Given the description of an element on the screen output the (x, y) to click on. 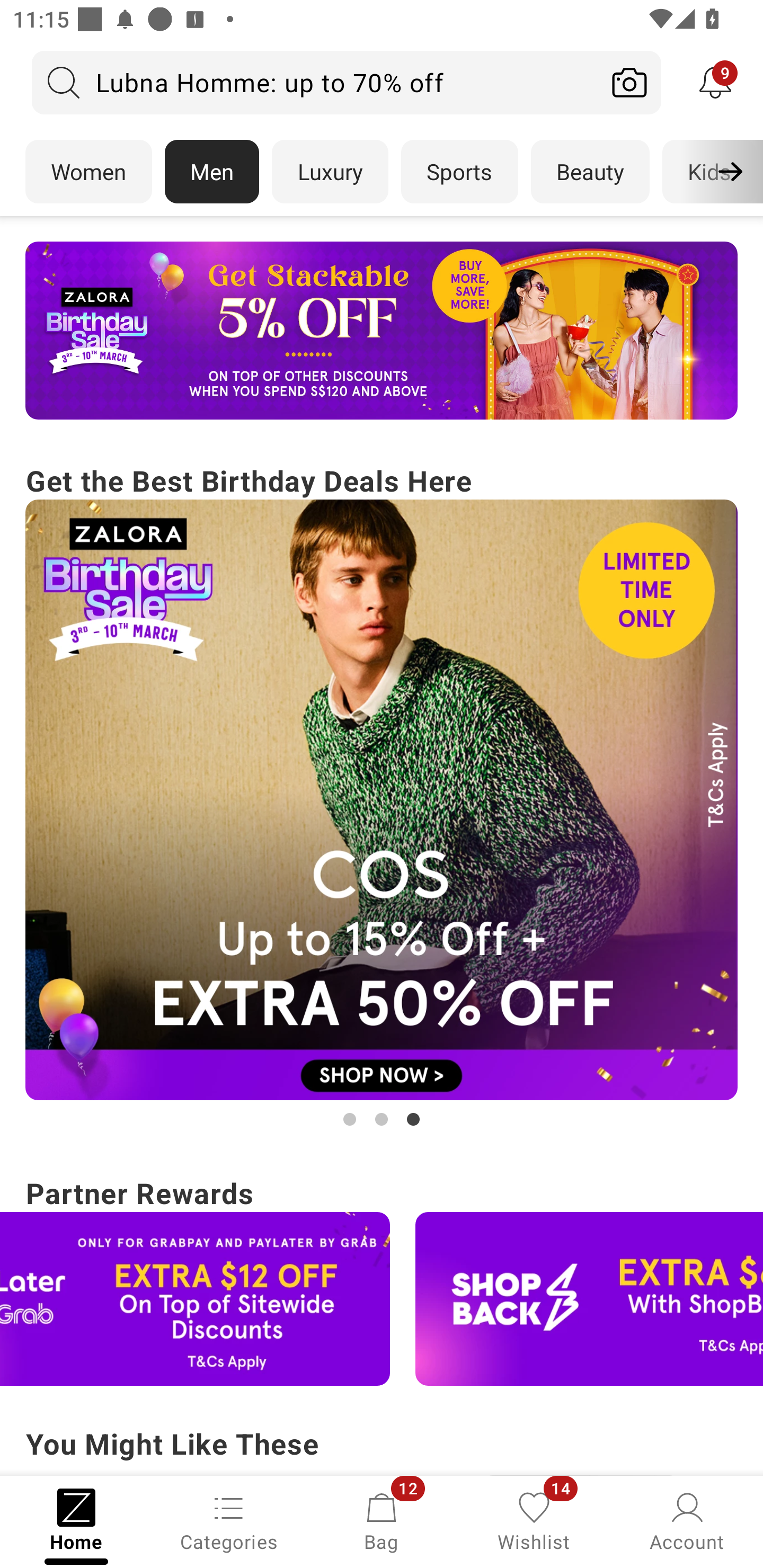
Lubna Homme: up to 70% off (314, 82)
Women (88, 171)
Men (211, 171)
Luxury (329, 171)
Sports (459, 171)
Beauty (590, 171)
Campaign banner (381, 330)
Get the Best Birthday Deals Here Campaign banner (381, 794)
Campaign banner (381, 800)
Partner Rewards Campaign banner Campaign banner (381, 1277)
Campaign banner (194, 1299)
Categories (228, 1519)
Bag, 12 new notifications Bag (381, 1519)
Wishlist, 14 new notifications Wishlist (533, 1519)
Account (686, 1519)
